Given the description of an element on the screen output the (x, y) to click on. 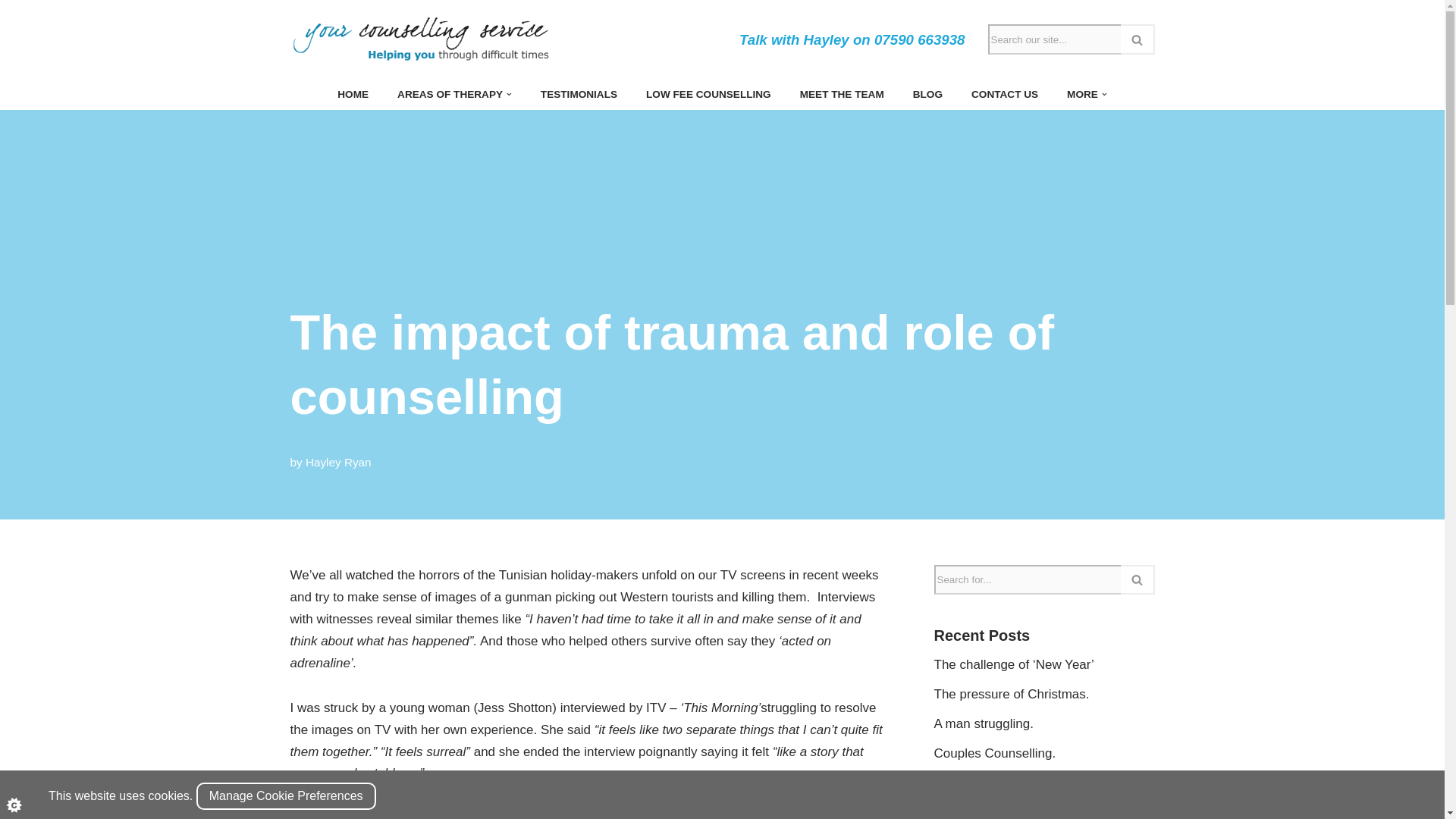
Posts by Hayley Ryan (338, 461)
TESTIMONIALS (578, 94)
Skip to content (11, 31)
MEET THE TEAM (841, 94)
BLOG (927, 94)
LOW FEE COUNSELLING (708, 94)
MORE (1082, 94)
HOME (352, 94)
Talk with Hayley on 07590 663938 (851, 39)
CONTACT US (1004, 94)
